Given the description of an element on the screen output the (x, y) to click on. 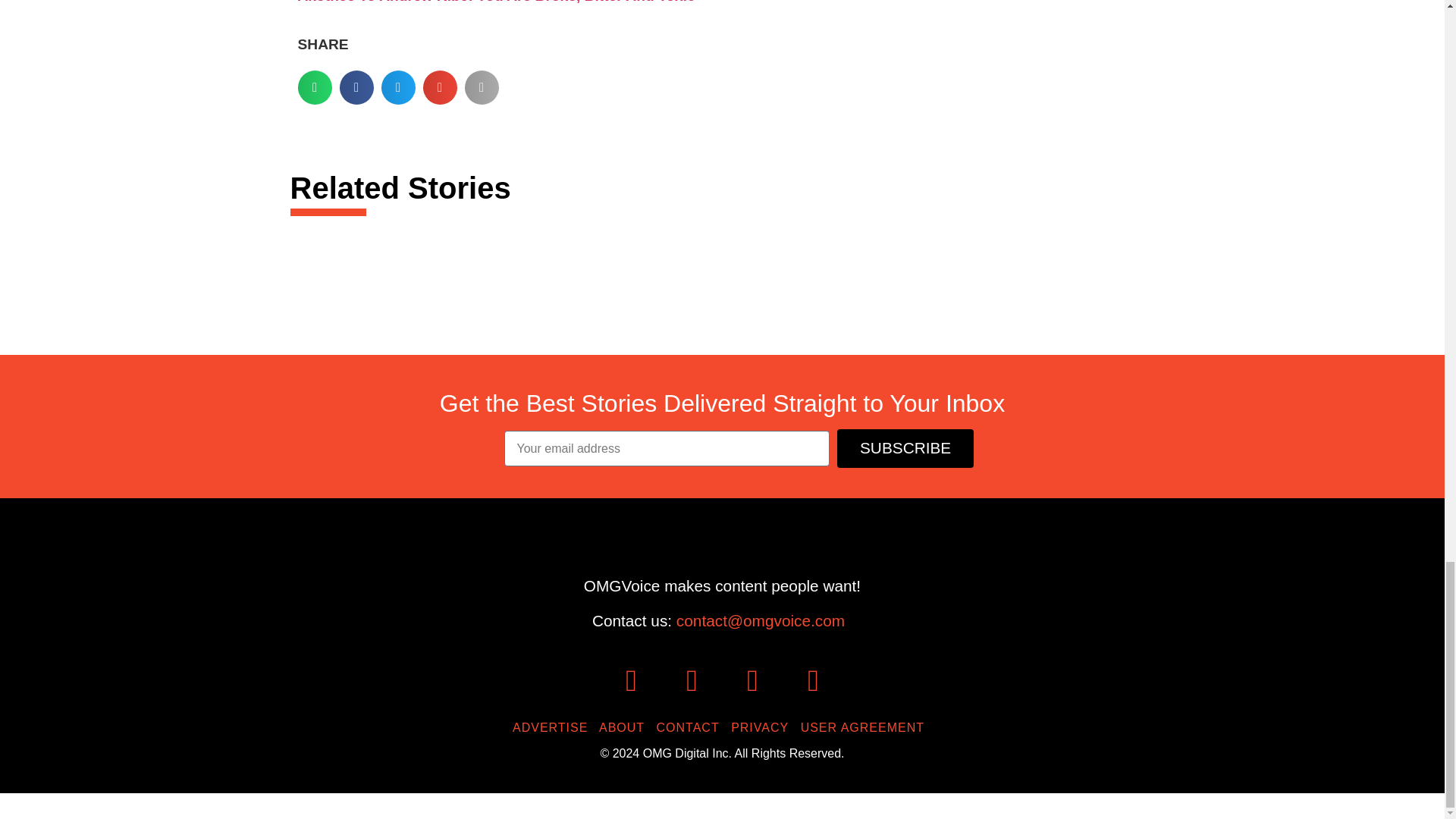
SUBSCRIBE (905, 448)
PRIVACY (763, 727)
ADVERTISE (553, 727)
ABOUT (625, 727)
CONTACT (691, 727)
USER AGREEMENT (865, 727)
